Given the description of an element on the screen output the (x, y) to click on. 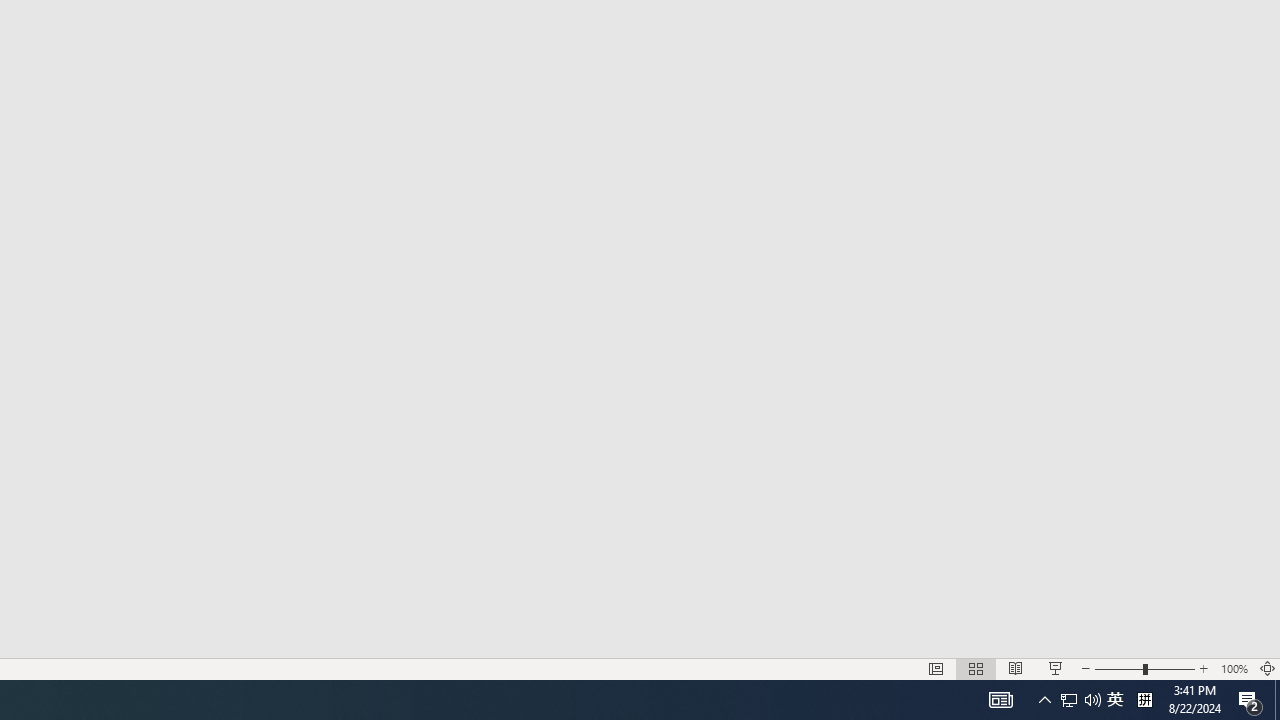
Zoom In (1204, 668)
Slide Show (1055, 668)
Slide Sorter (975, 668)
Zoom (1144, 668)
Zoom to Fit  (1267, 668)
Reading View (1015, 668)
Zoom Out (1118, 668)
Zoom 100% (1234, 668)
Normal (936, 668)
